Given the description of an element on the screen output the (x, y) to click on. 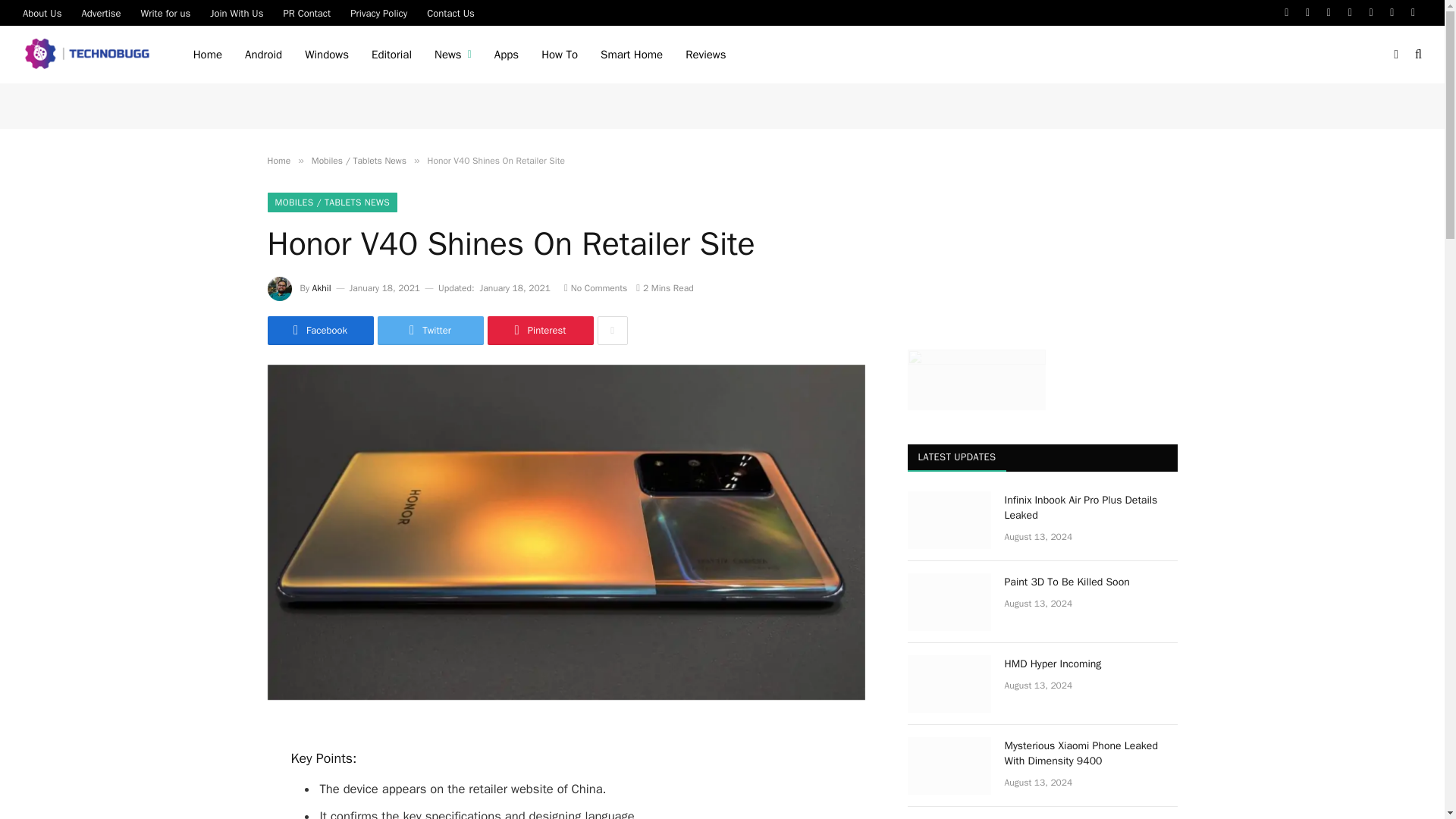
Switch to Dark Design - easier on eyes. (1396, 54)
Join With Us (236, 12)
Write for us (165, 12)
Reviews (705, 54)
Share on Facebook (319, 330)
TechnoBugg (89, 54)
News (453, 54)
Smart Home (631, 54)
About Us (42, 12)
Windows (326, 54)
